Given the description of an element on the screen output the (x, y) to click on. 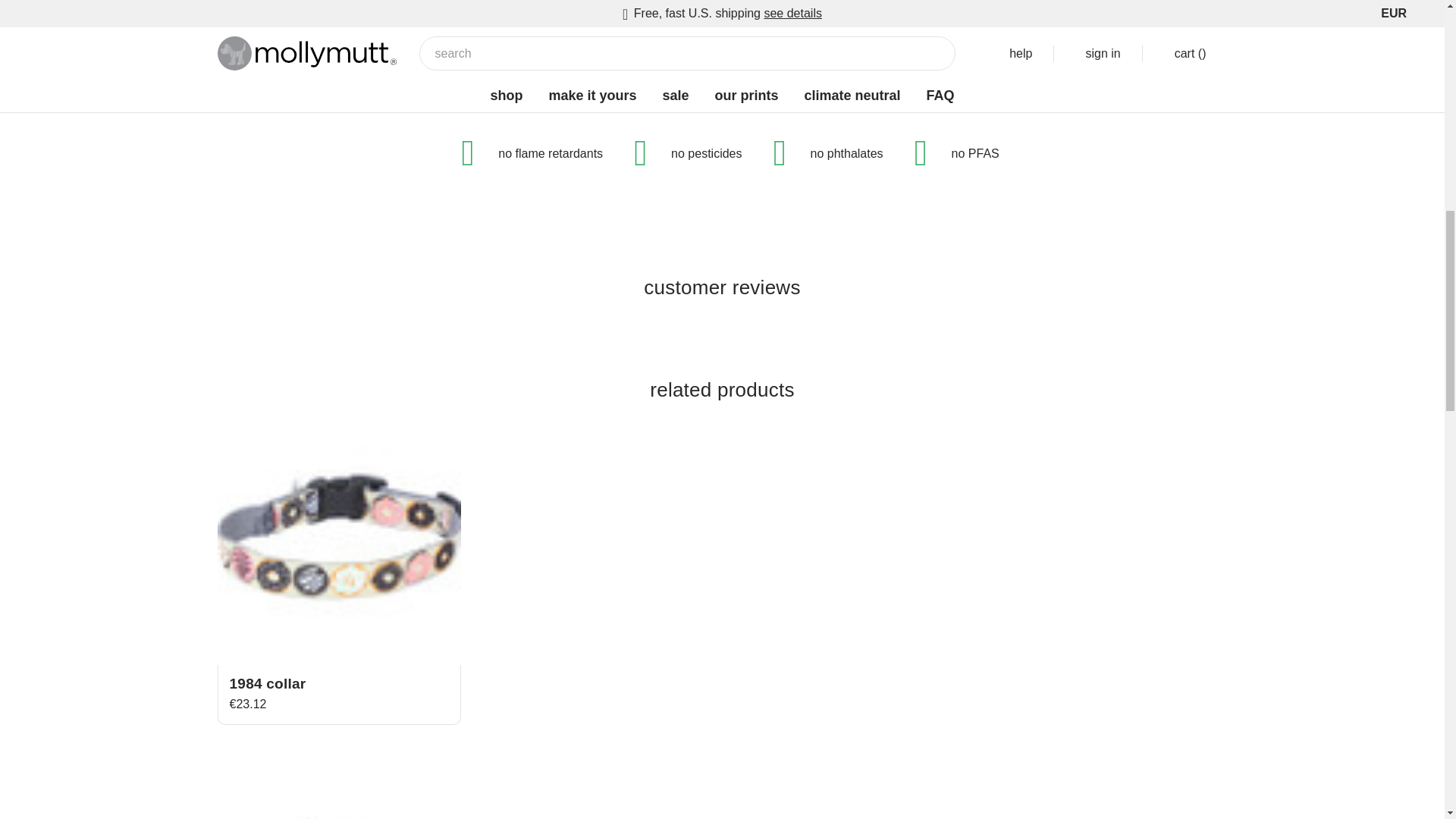
catch-22 lead (338, 781)
1984 collar (338, 543)
